Given the description of an element on the screen output the (x, y) to click on. 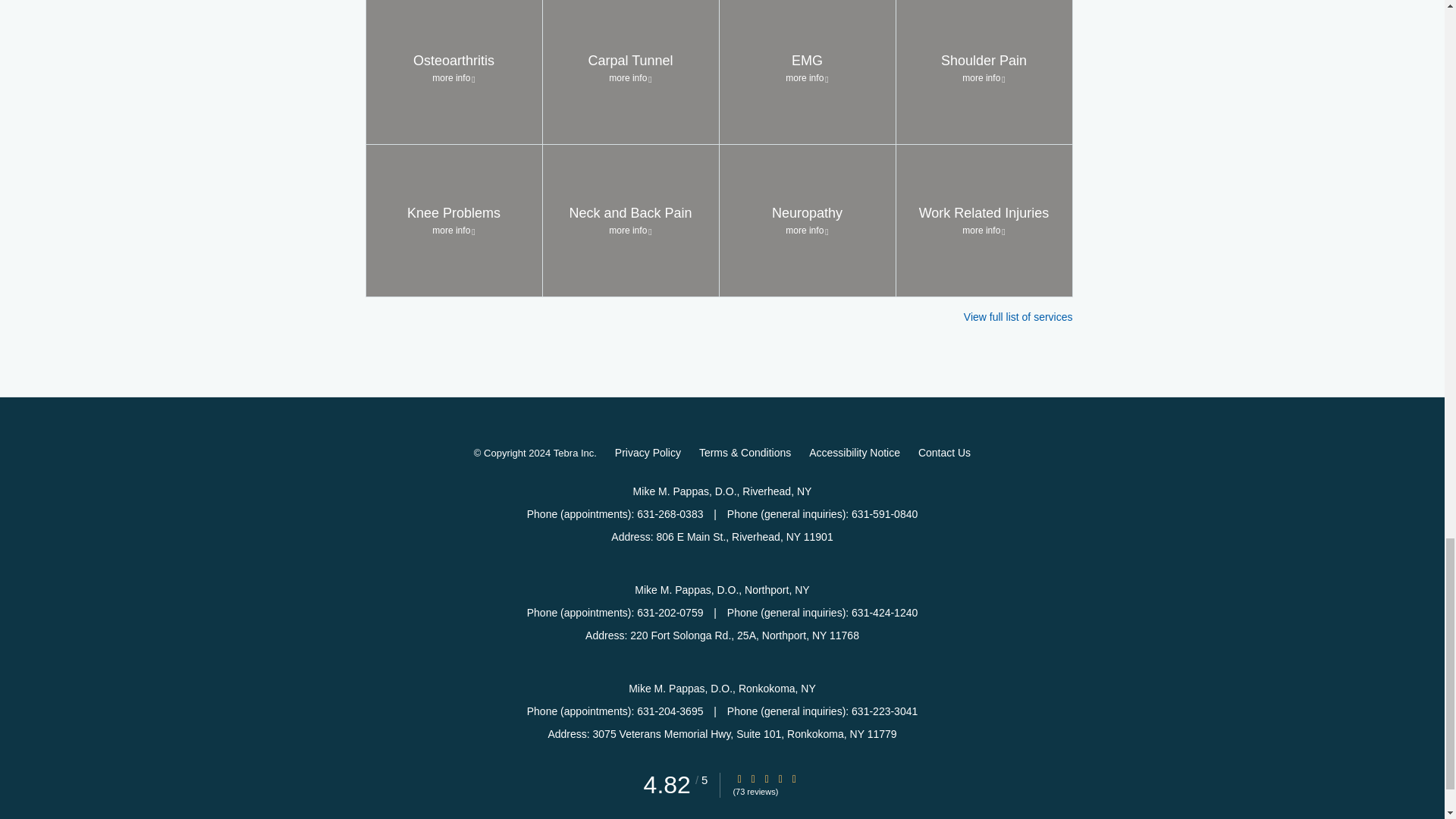
Star Rating (766, 778)
Star Rating (738, 778)
Star Rating (780, 778)
Star Rating (753, 778)
Star Rating (794, 778)
